Given the description of an element on the screen output the (x, y) to click on. 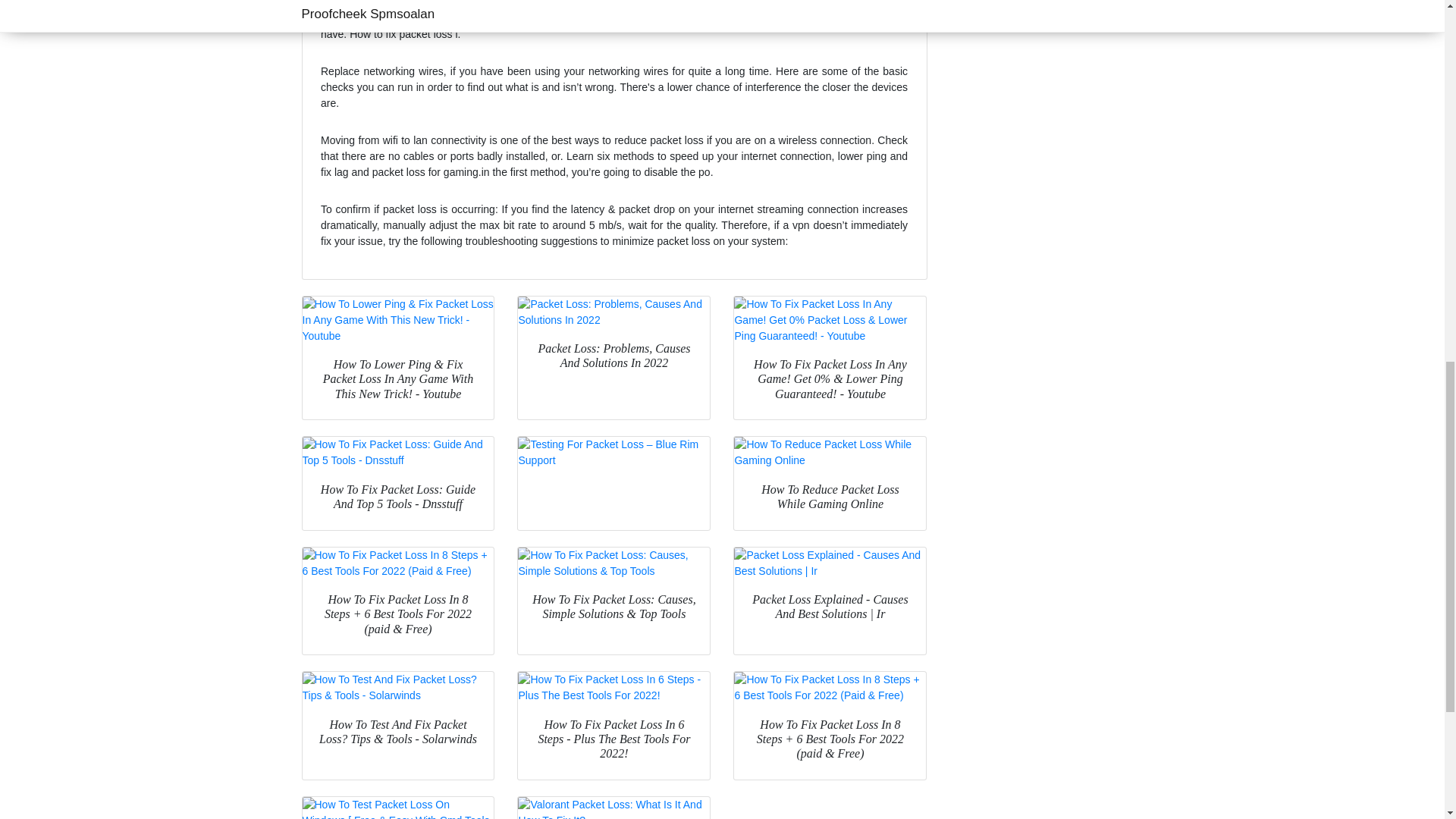
How To Fix Packet Loss: Guide And Top 5 Tools - Dnsstuff  (397, 452)
Packet Loss: Problems, Causes And Solutions In 2022  (614, 312)
How To Reduce Packet Loss While Gaming Online  (829, 452)
